Given the description of an element on the screen output the (x, y) to click on. 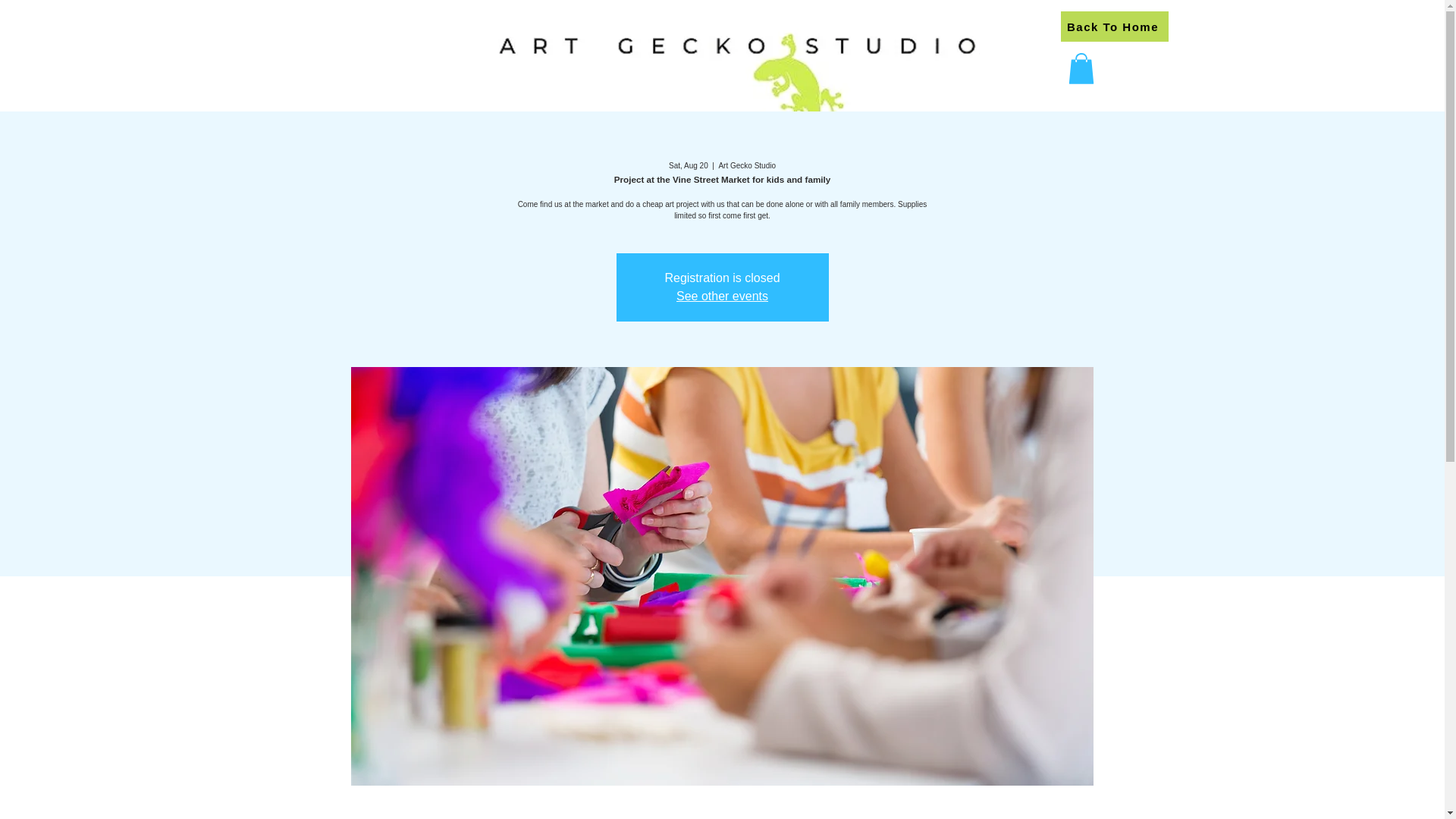
Back To Home (1113, 26)
See other events (722, 295)
